Given the description of an element on the screen output the (x, y) to click on. 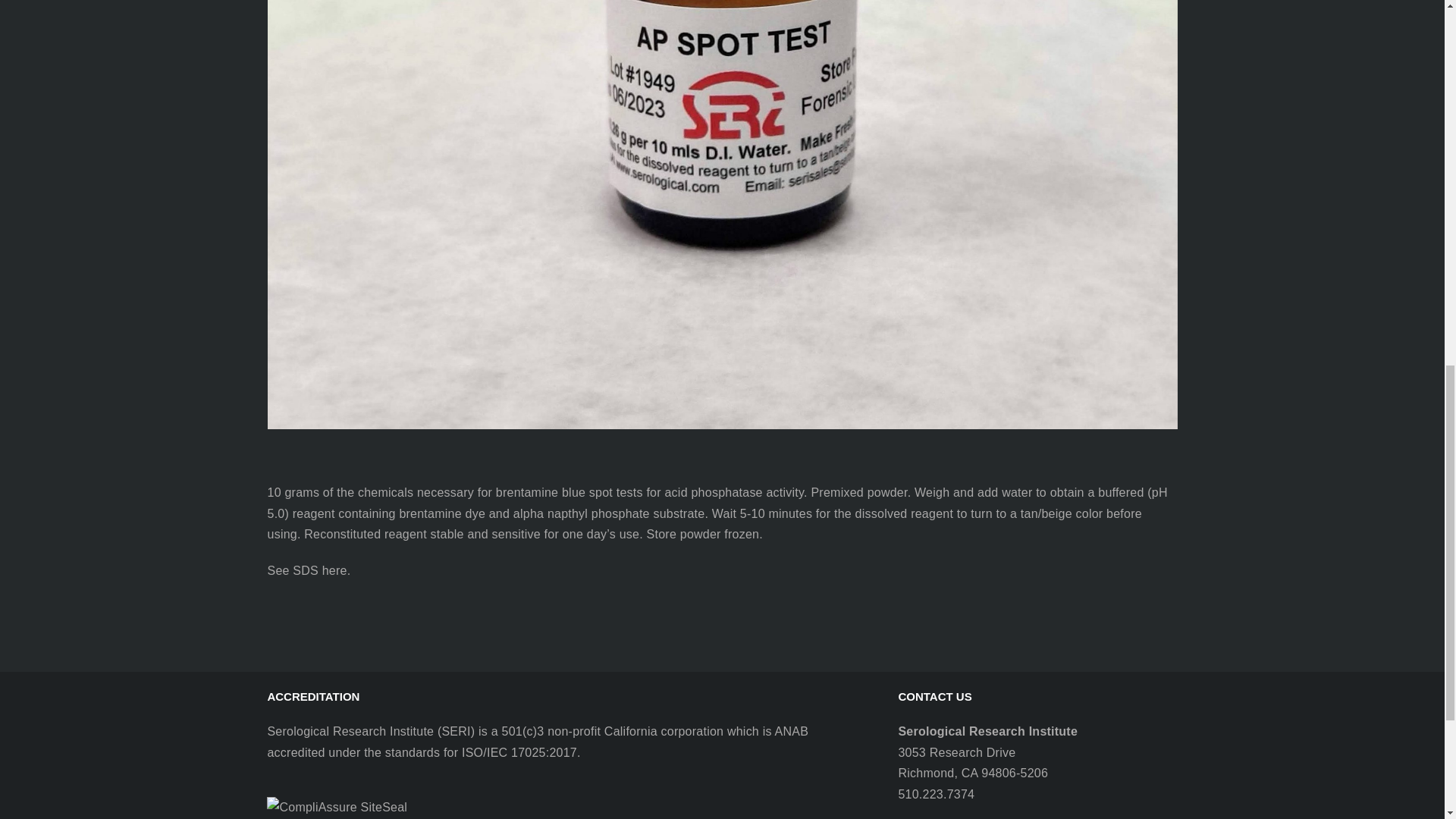
See SDS here (306, 570)
